Given the description of an element on the screen output the (x, y) to click on. 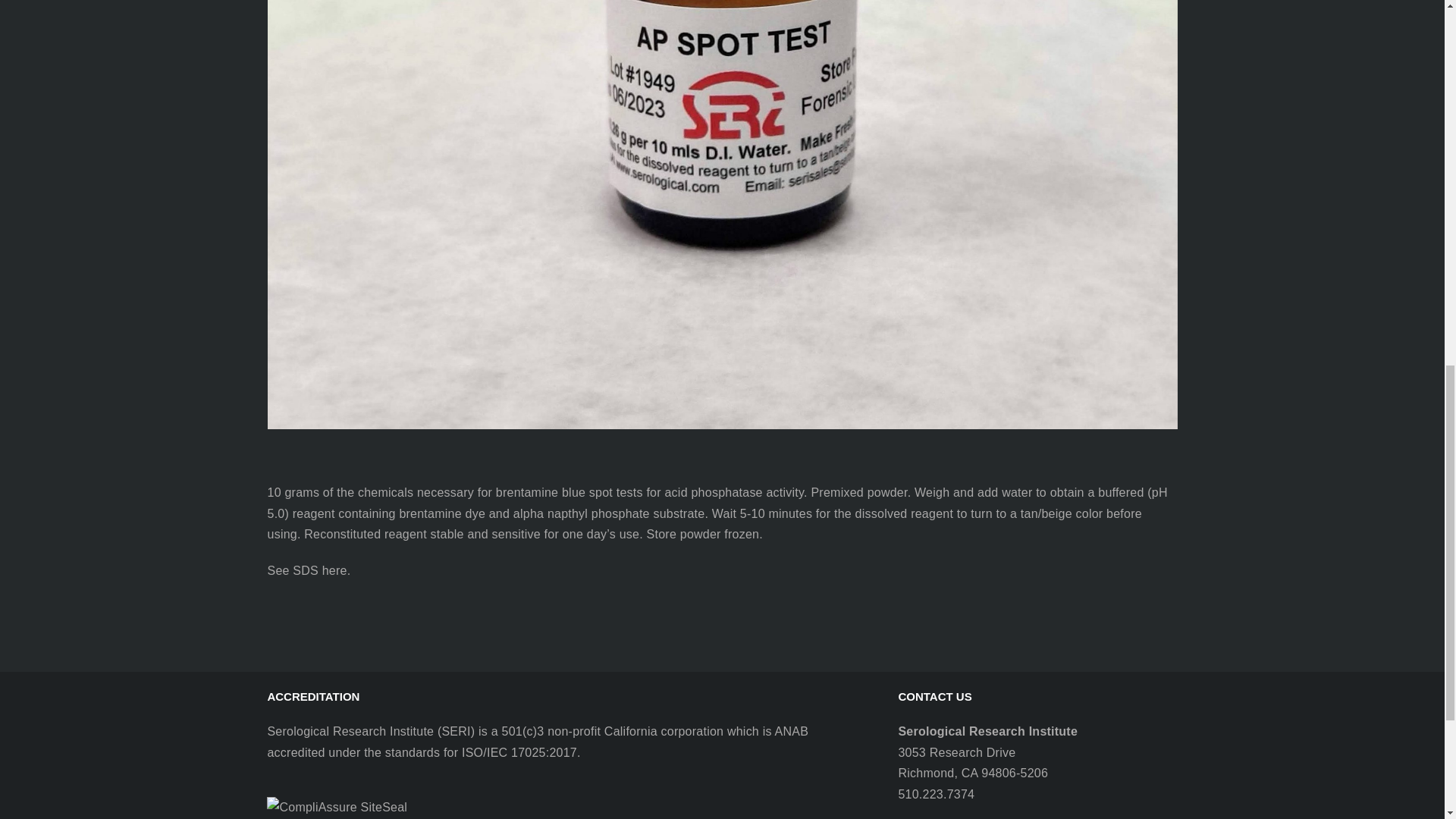
See SDS here (306, 570)
